Given the description of an element on the screen output the (x, y) to click on. 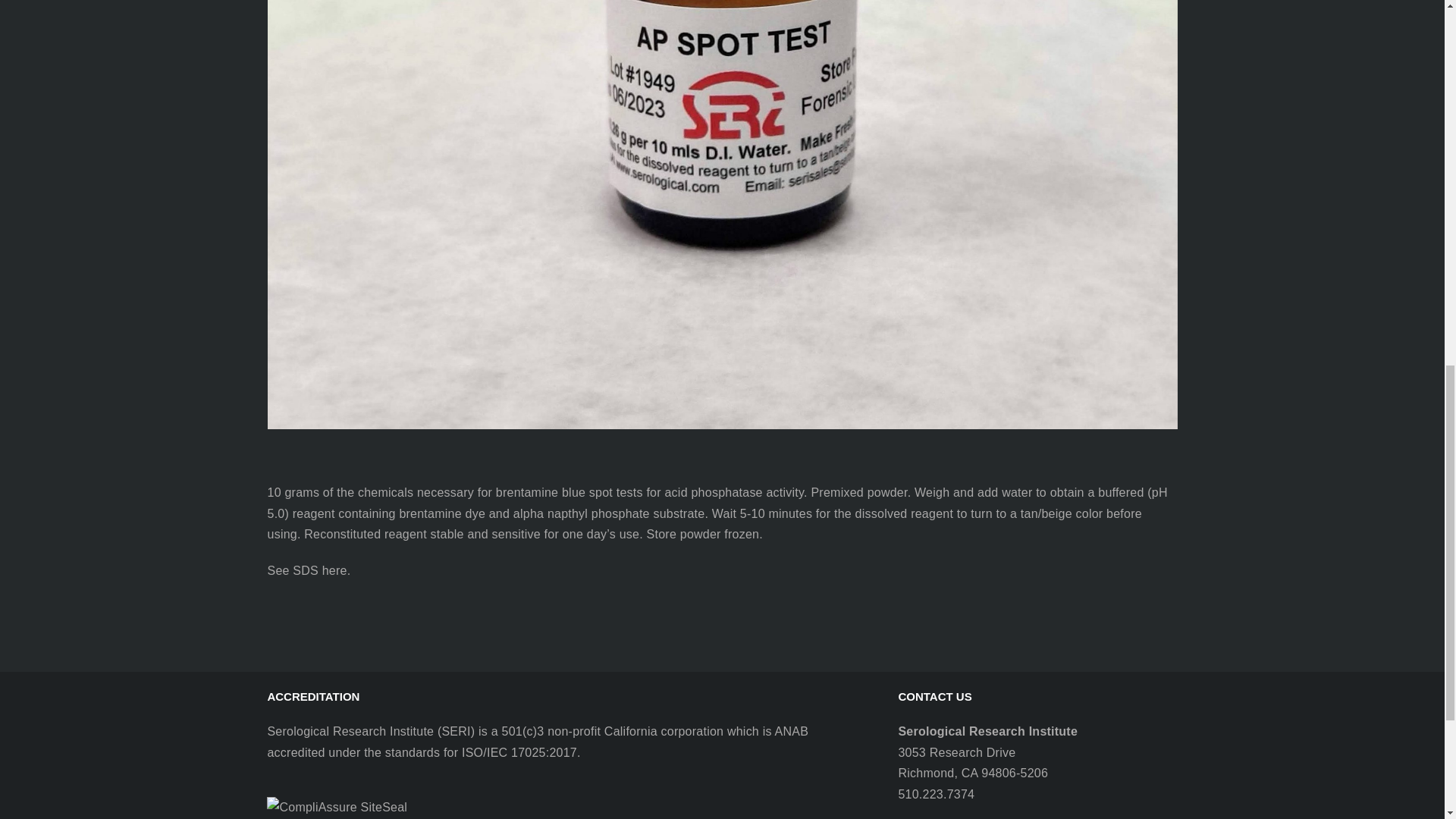
See SDS here (306, 570)
